Given the description of an element on the screen output the (x, y) to click on. 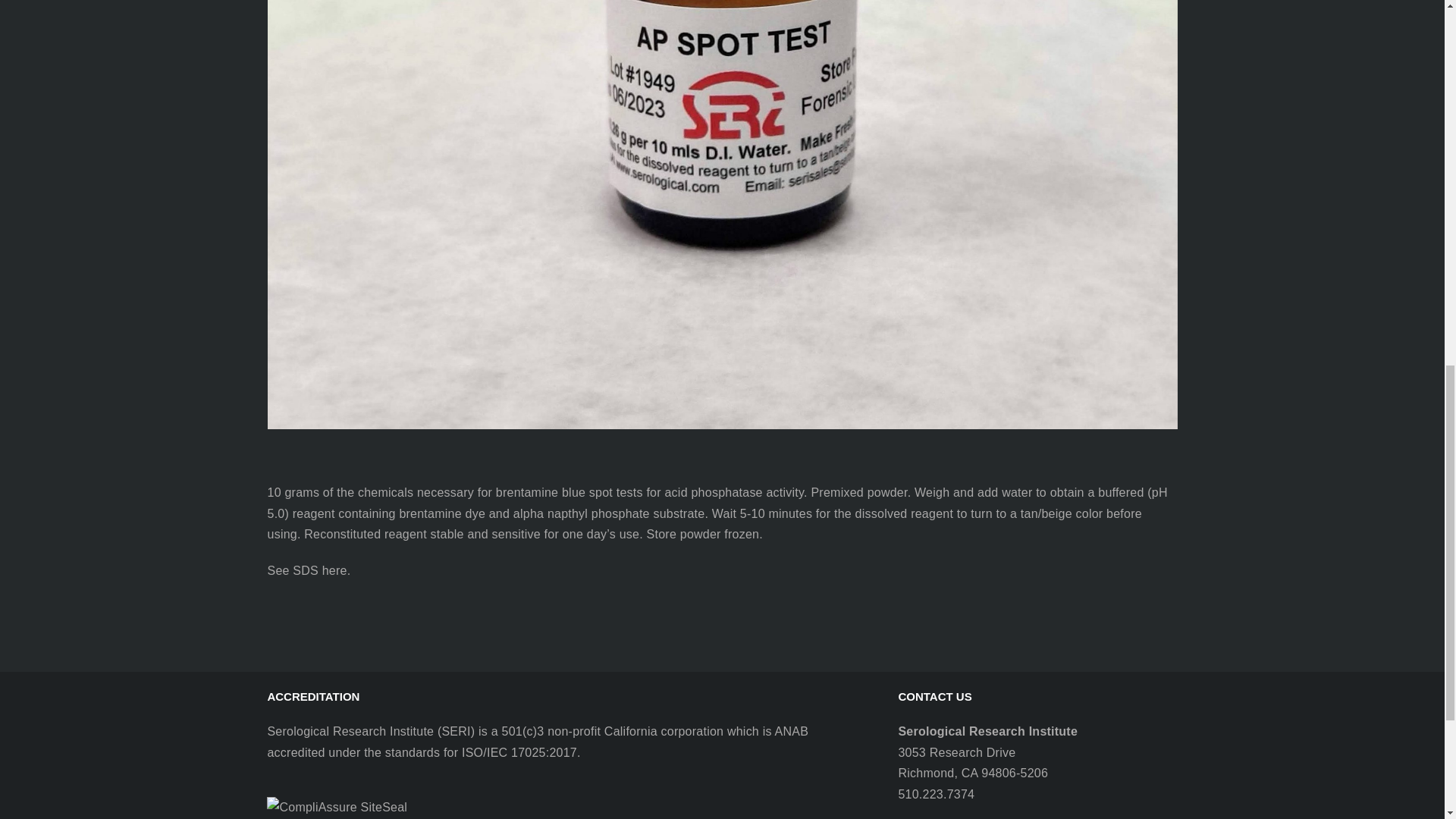
See SDS here (306, 570)
